Given the description of an element on the screen output the (x, y) to click on. 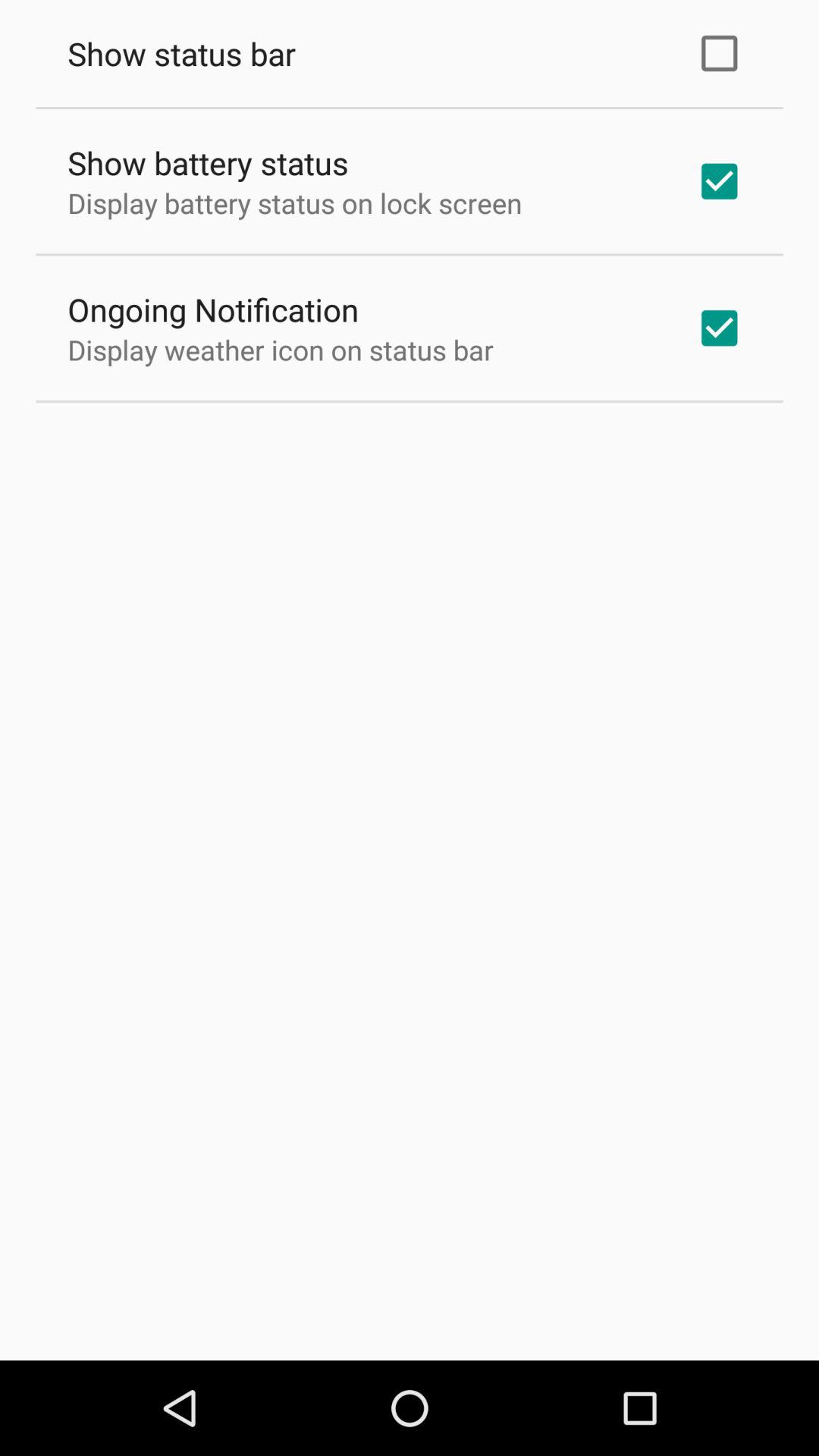
open the display weather icon app (280, 349)
